Given the description of an element on the screen output the (x, y) to click on. 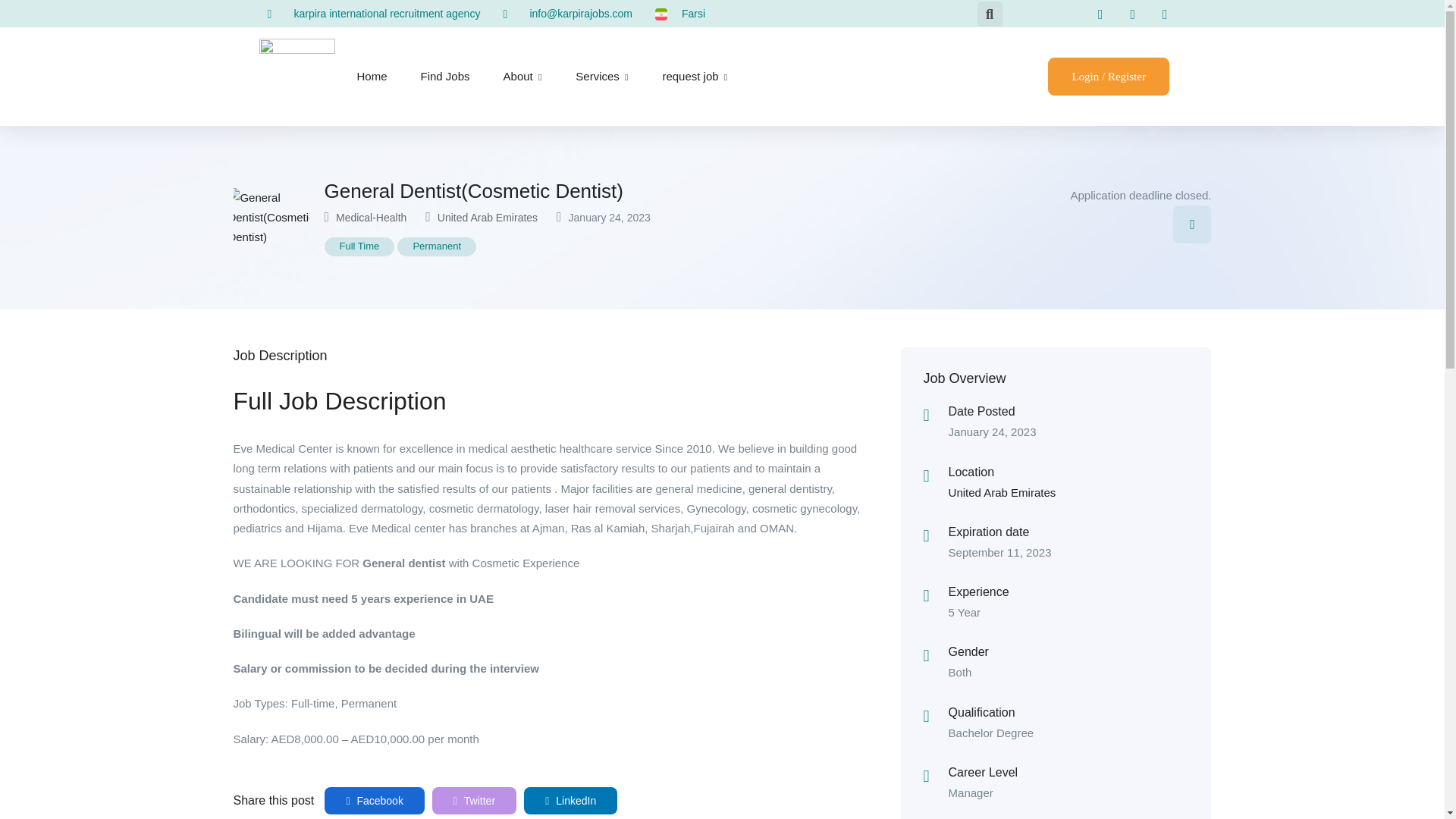
Sign in (1108, 76)
